Given the description of an element on the screen output the (x, y) to click on. 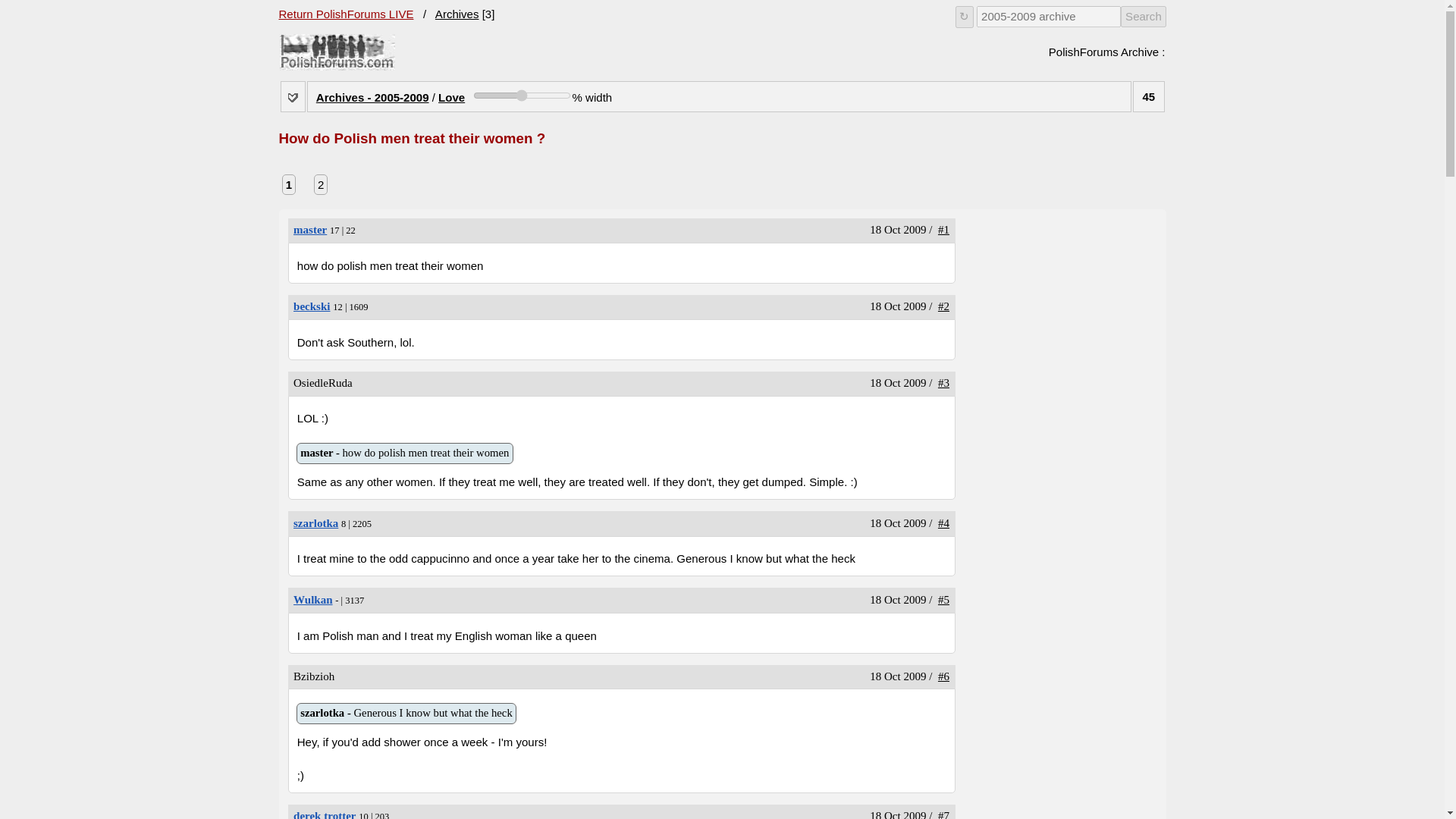
master (404, 453)
szarlotka (315, 522)
Return PolishForums LIVE (346, 13)
Wulkan (325, 814)
60 (313, 599)
Love (521, 95)
Archives (312, 306)
